Given the description of an element on the screen output the (x, y) to click on. 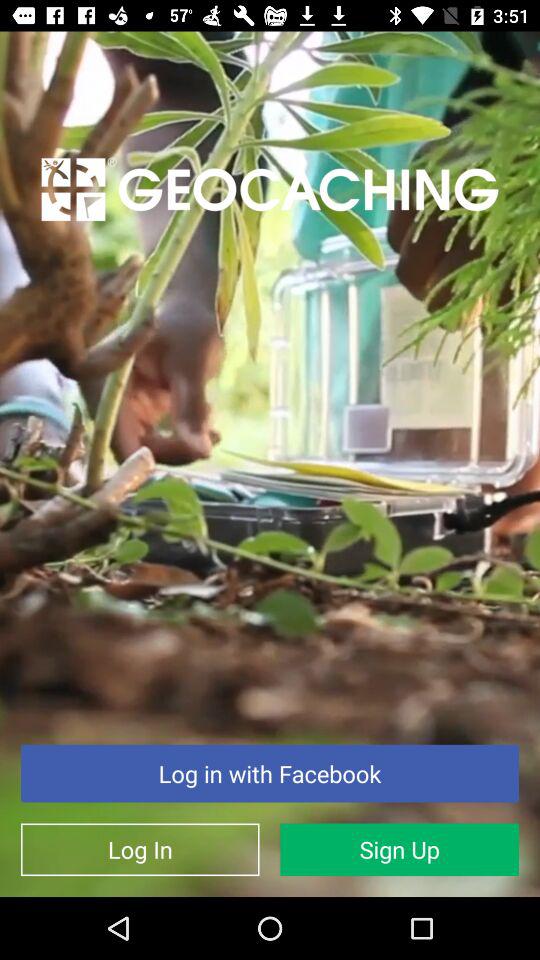
choose the sign up icon (399, 849)
